Given the description of an element on the screen output the (x, y) to click on. 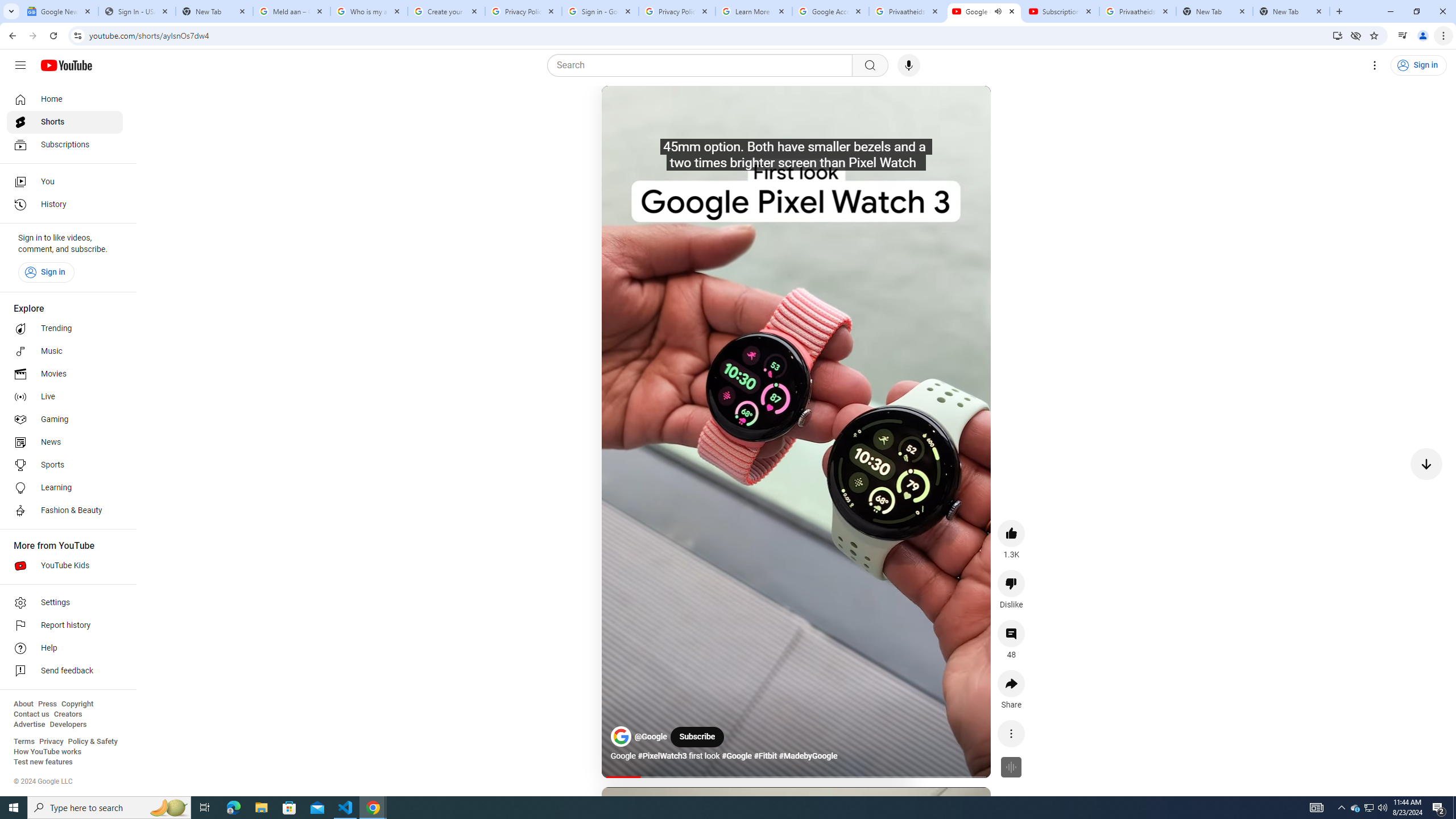
Seek slider (796, 776)
Press (46, 703)
Movies (64, 373)
Mute (657, 108)
Music (64, 350)
Contact us (31, 714)
Install YouTube (1336, 35)
More actions (1011, 732)
